Given the description of an element on the screen output the (x, y) to click on. 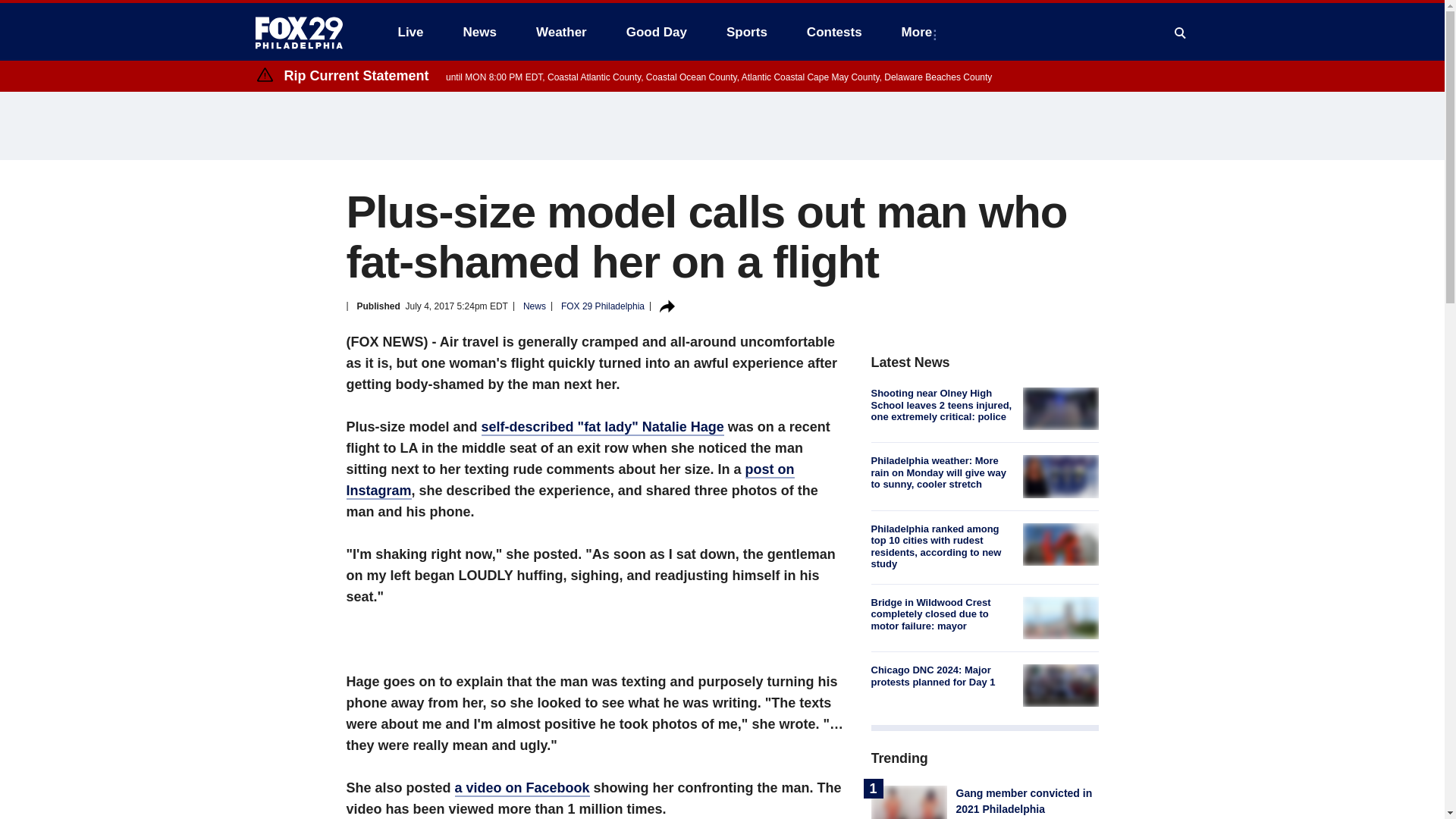
Contests (834, 32)
Sports (746, 32)
Live (410, 32)
Good Day (656, 32)
More (919, 32)
Weather (561, 32)
News (479, 32)
